Given the description of an element on the screen output the (x, y) to click on. 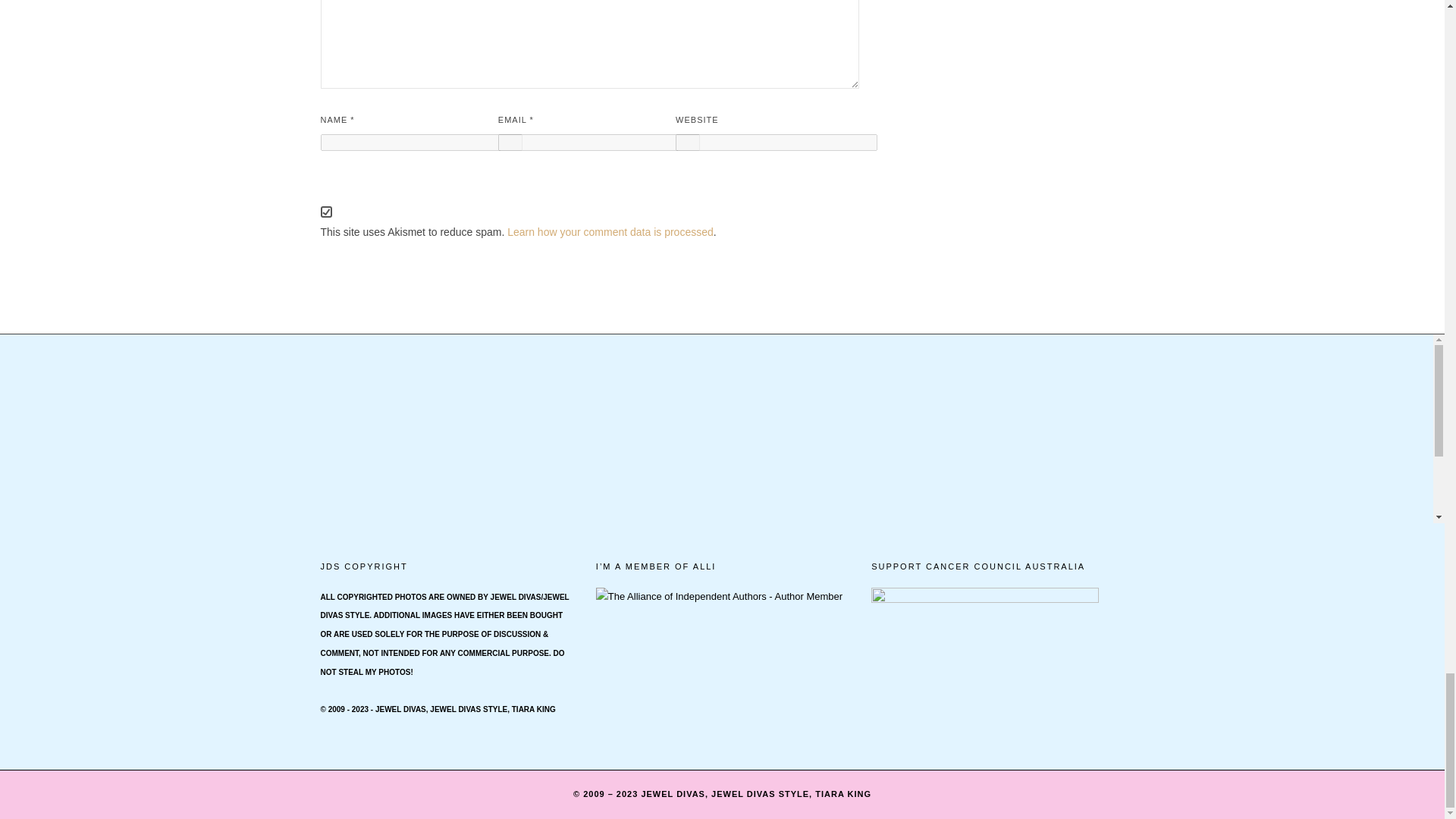
on (325, 211)
